Given the description of an element on the screen output the (x, y) to click on. 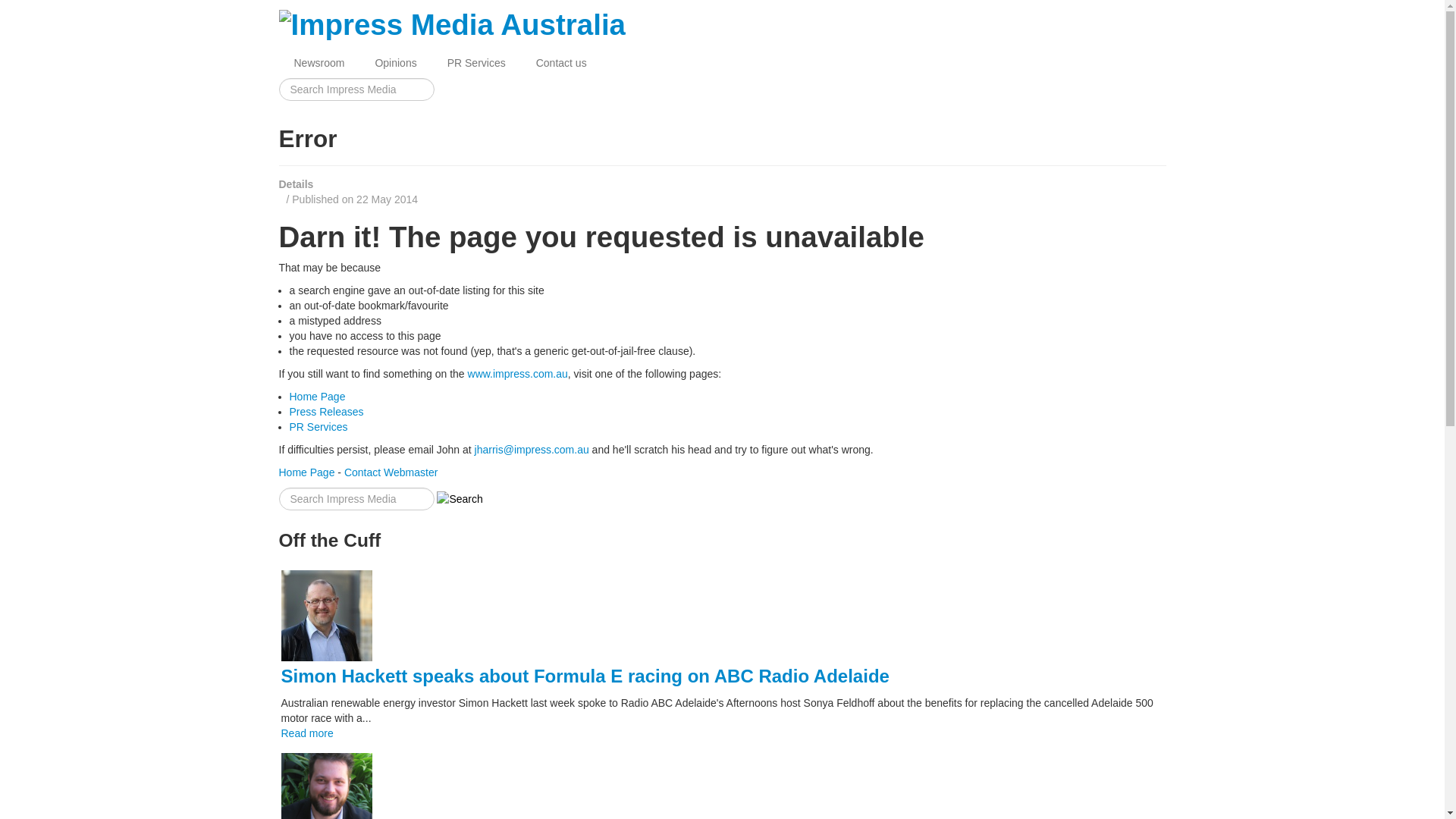
Home Page Element type: text (307, 472)
PR Services Element type: text (476, 62)
Newsroom Element type: text (319, 62)
PR Services Element type: text (318, 426)
Read more Element type: text (306, 732)
Opinions Element type: text (395, 62)
Contact Webmaster Element type: text (390, 472)
Press Releases Element type: text (326, 411)
Contact us Element type: text (561, 62)
jharris@impress.com.au Element type: text (531, 449)
Home Page Element type: text (317, 396)
www.impress.com.au Element type: text (517, 373)
